Given the description of an element on the screen output the (x, y) to click on. 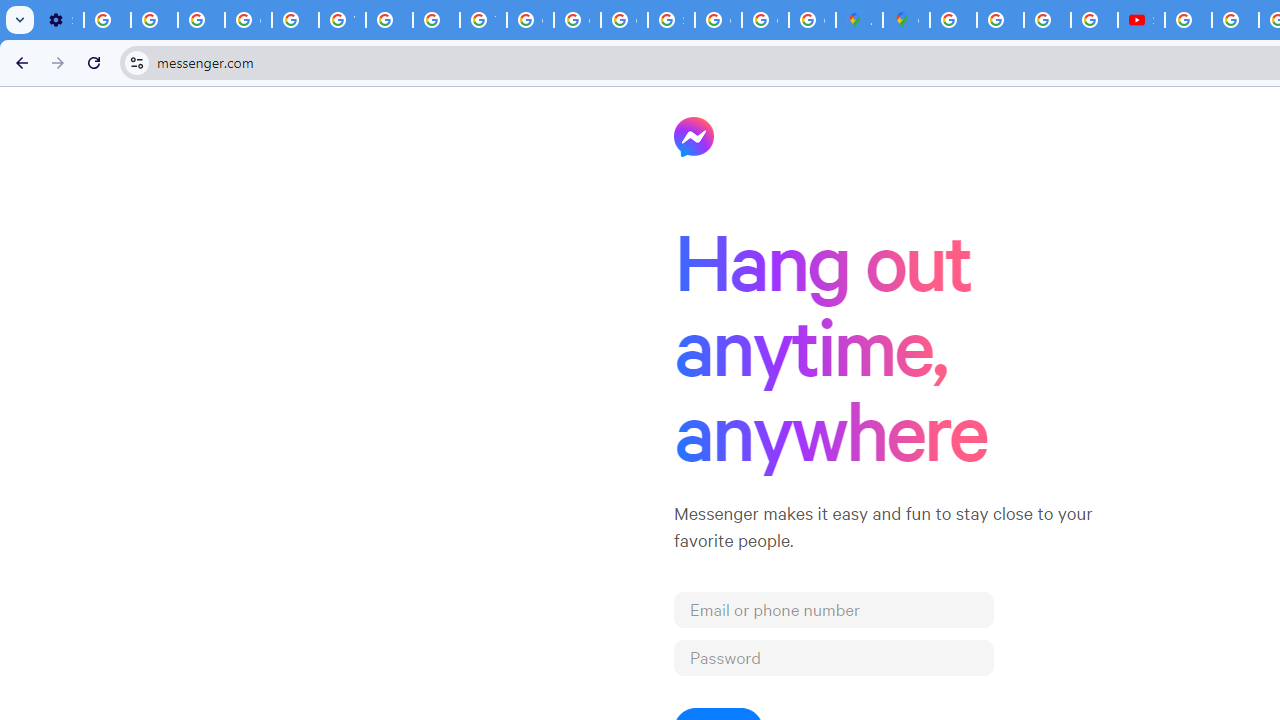
Learn how to find your photos - Google Photos Help (153, 20)
Privacy Help Center - Policies Help (1047, 20)
Messenger (694, 136)
YouTube (342, 20)
Google Maps (906, 20)
Privacy Help Center - Policies Help (999, 20)
Blogger Policies and Guidelines - Transparency Center (953, 20)
